Given the description of an element on the screen output the (x, y) to click on. 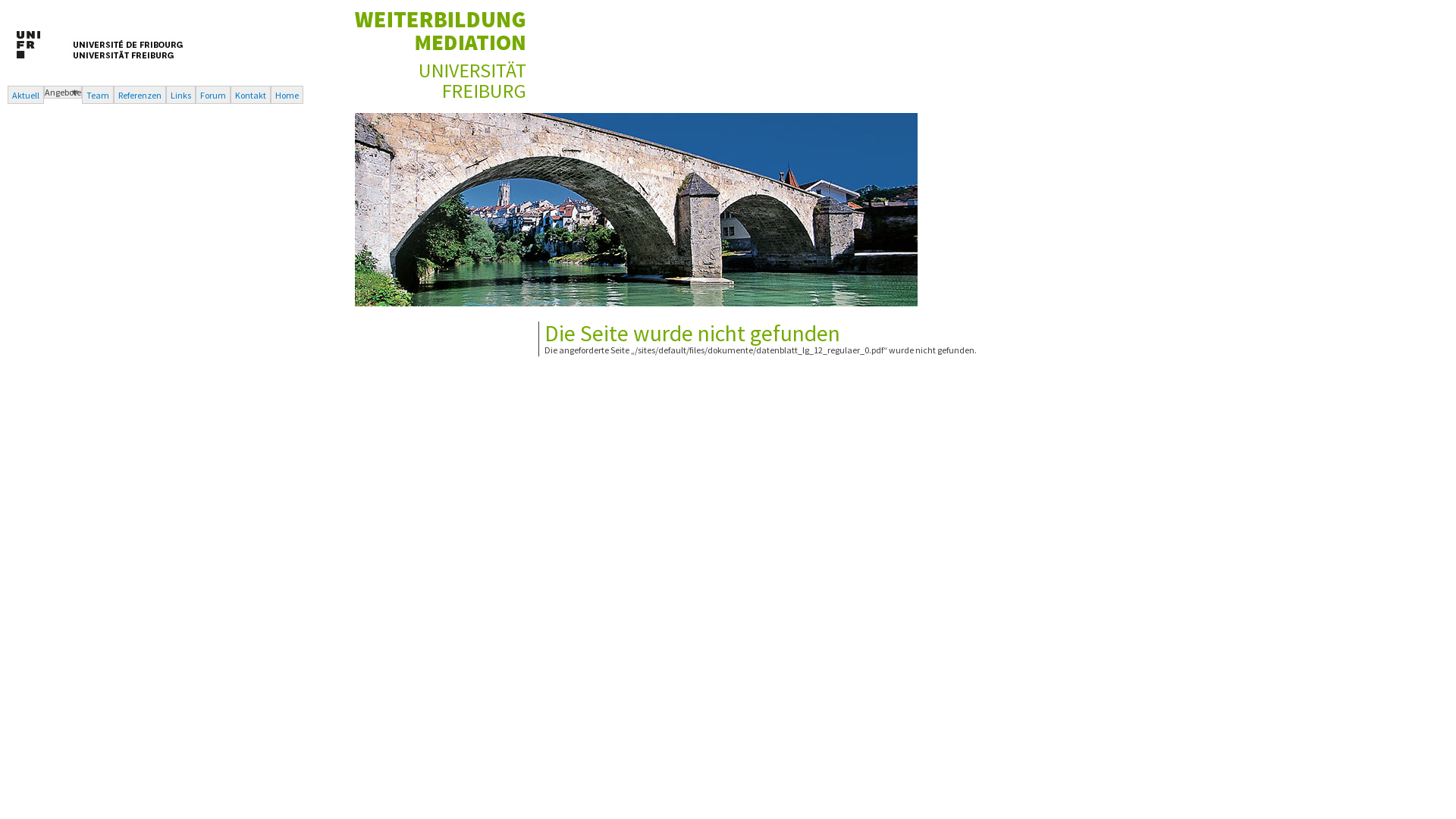
Team Element type: text (97, 94)
Home Element type: hover (440, 94)
Aktuell Element type: text (25, 94)
Jump to navigation Element type: text (37, 12)
Home Element type: text (286, 94)
Referenzen Element type: text (139, 94)
Kontakt Element type: text (250, 94)
Forum Element type: text (212, 94)
Links Element type: text (180, 94)
